Given the description of an element on the screen output the (x, y) to click on. 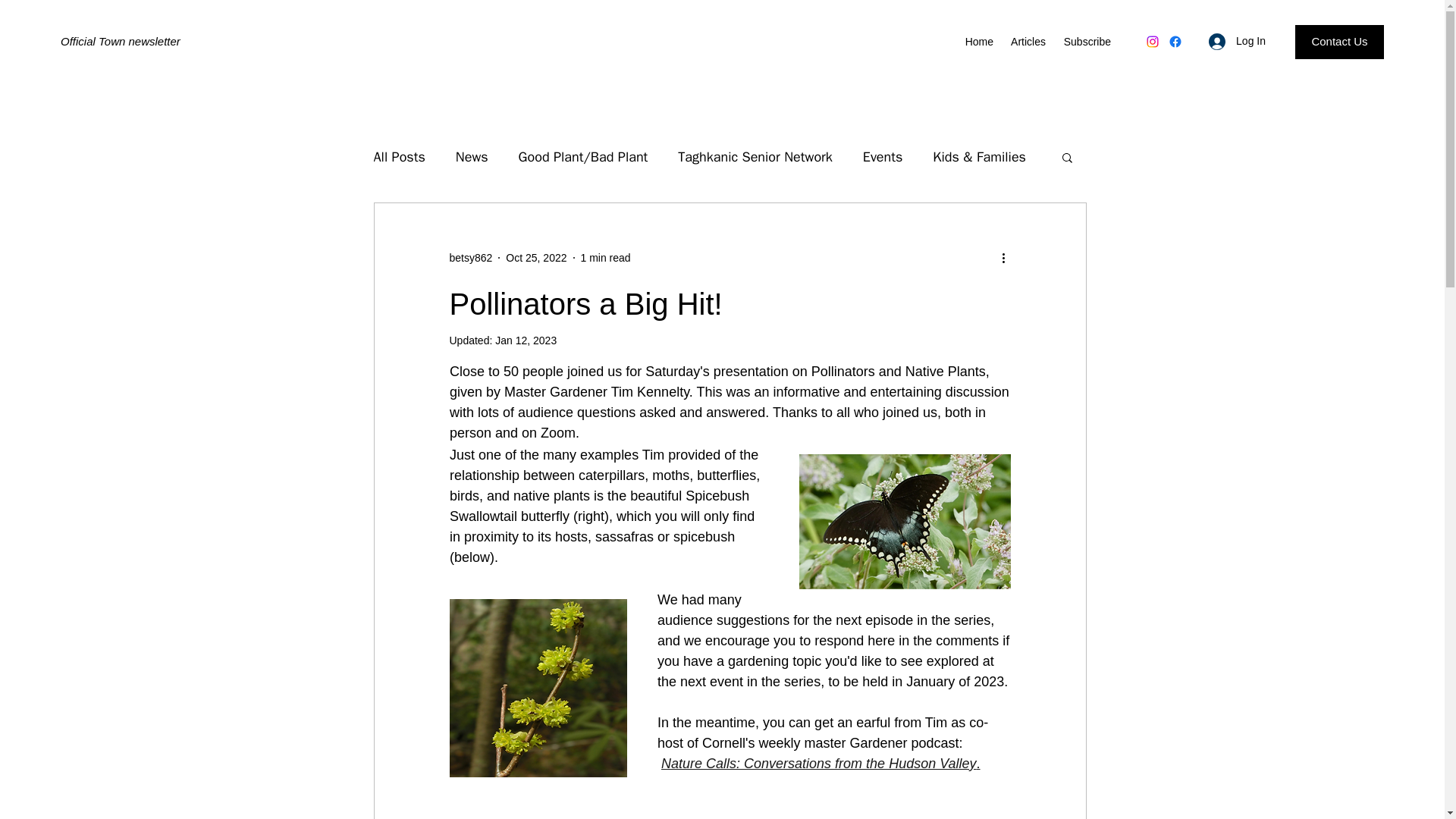
betsy862 (470, 258)
News (471, 157)
Taghkanic Senior Network (754, 157)
Contact Us (1339, 41)
Oct 25, 2022 (535, 257)
All Posts (398, 157)
Articles (1026, 41)
Jan 12, 2023 (525, 340)
Subscribe (1085, 41)
Events (882, 157)
